Given the description of an element on the screen output the (x, y) to click on. 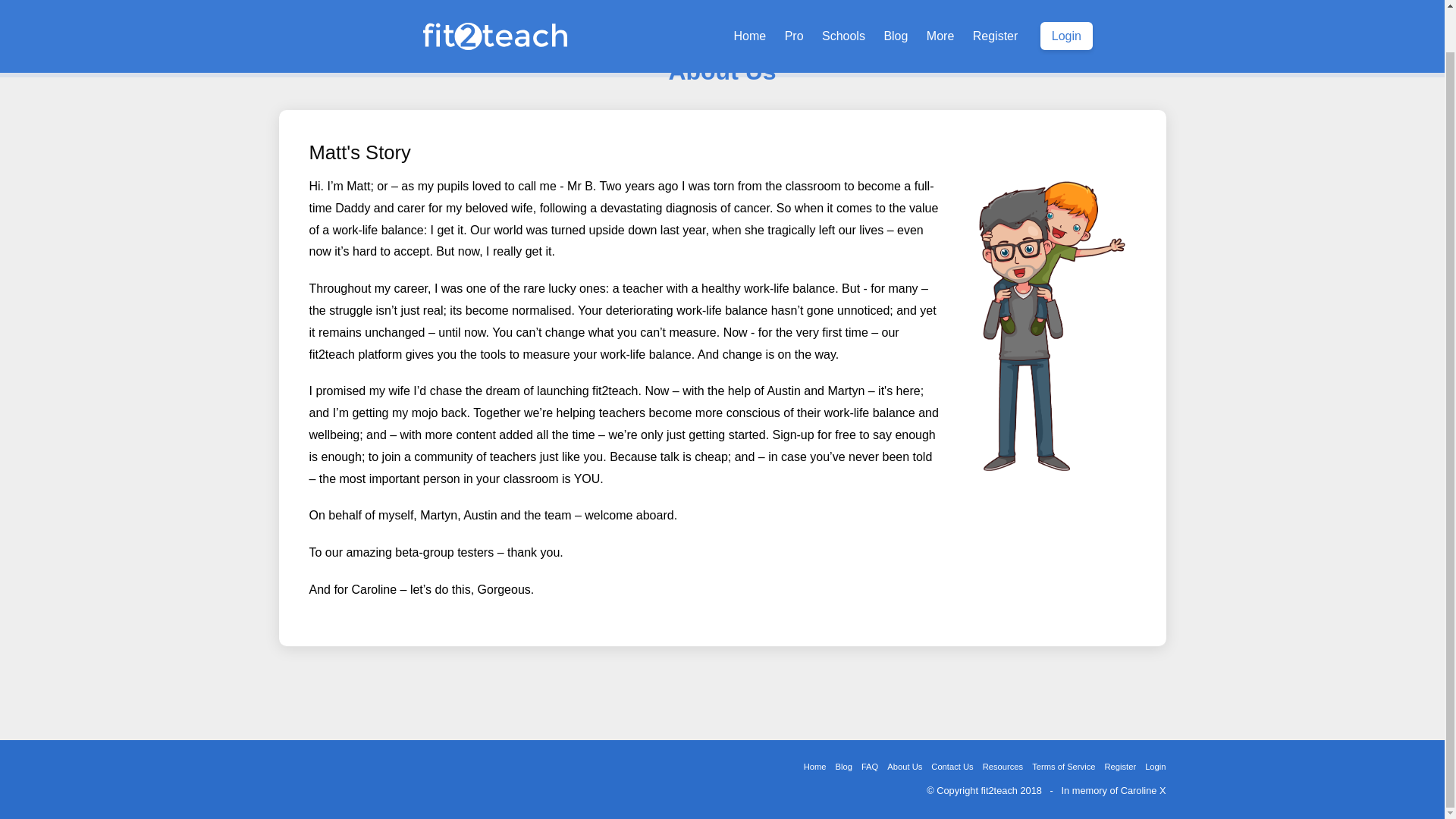
Blog (842, 766)
FAQ (869, 766)
Contact Us (951, 766)
Resources (1002, 766)
Home (750, 2)
Schools (842, 2)
More (939, 2)
Blog (895, 2)
About Us (904, 766)
Pro (793, 2)
Terms of Service (1063, 766)
Register (1119, 766)
Login (1067, 2)
Home (815, 766)
Login (1153, 766)
